Given the description of an element on the screen output the (x, y) to click on. 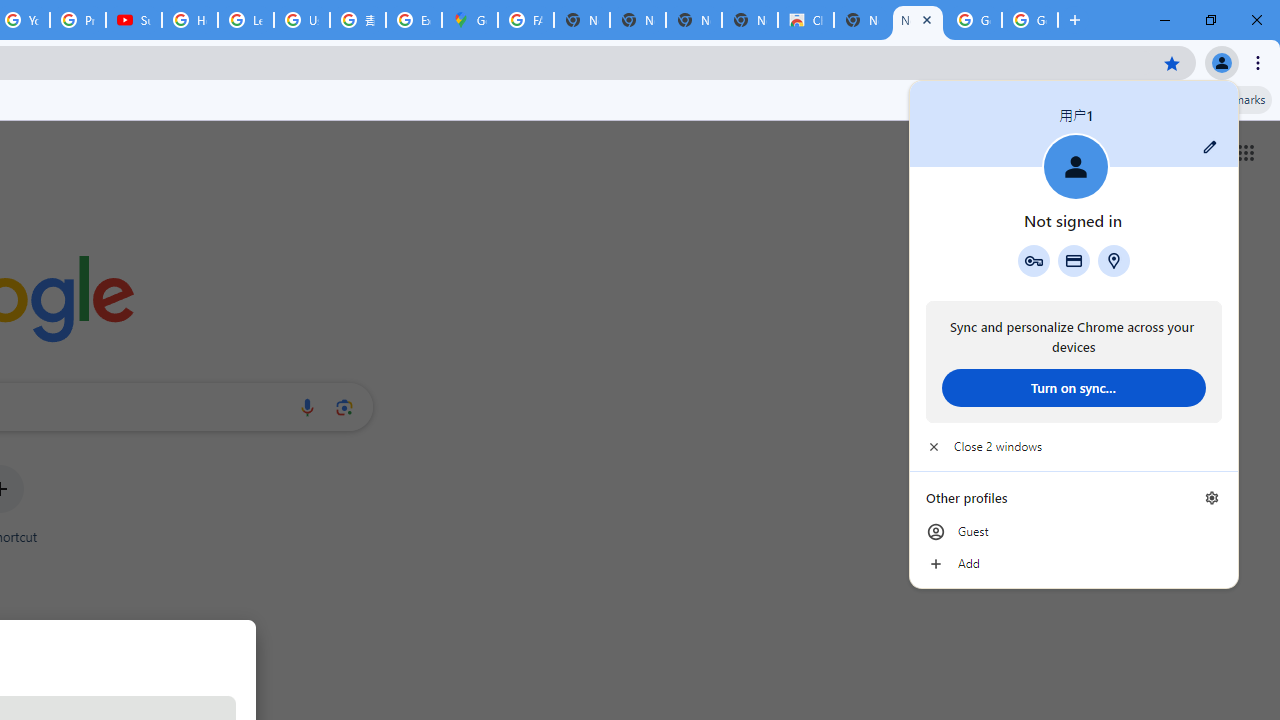
Customize profile (1210, 147)
Google Images (973, 20)
Addresses and more (1114, 260)
Guest (1073, 531)
Google Images (1030, 20)
Google Maps (469, 20)
How Chrome protects your passwords - Google Chrome Help (189, 20)
Google Password Manager (1033, 260)
Close 2 windows (1073, 446)
